Given the description of an element on the screen output the (x, y) to click on. 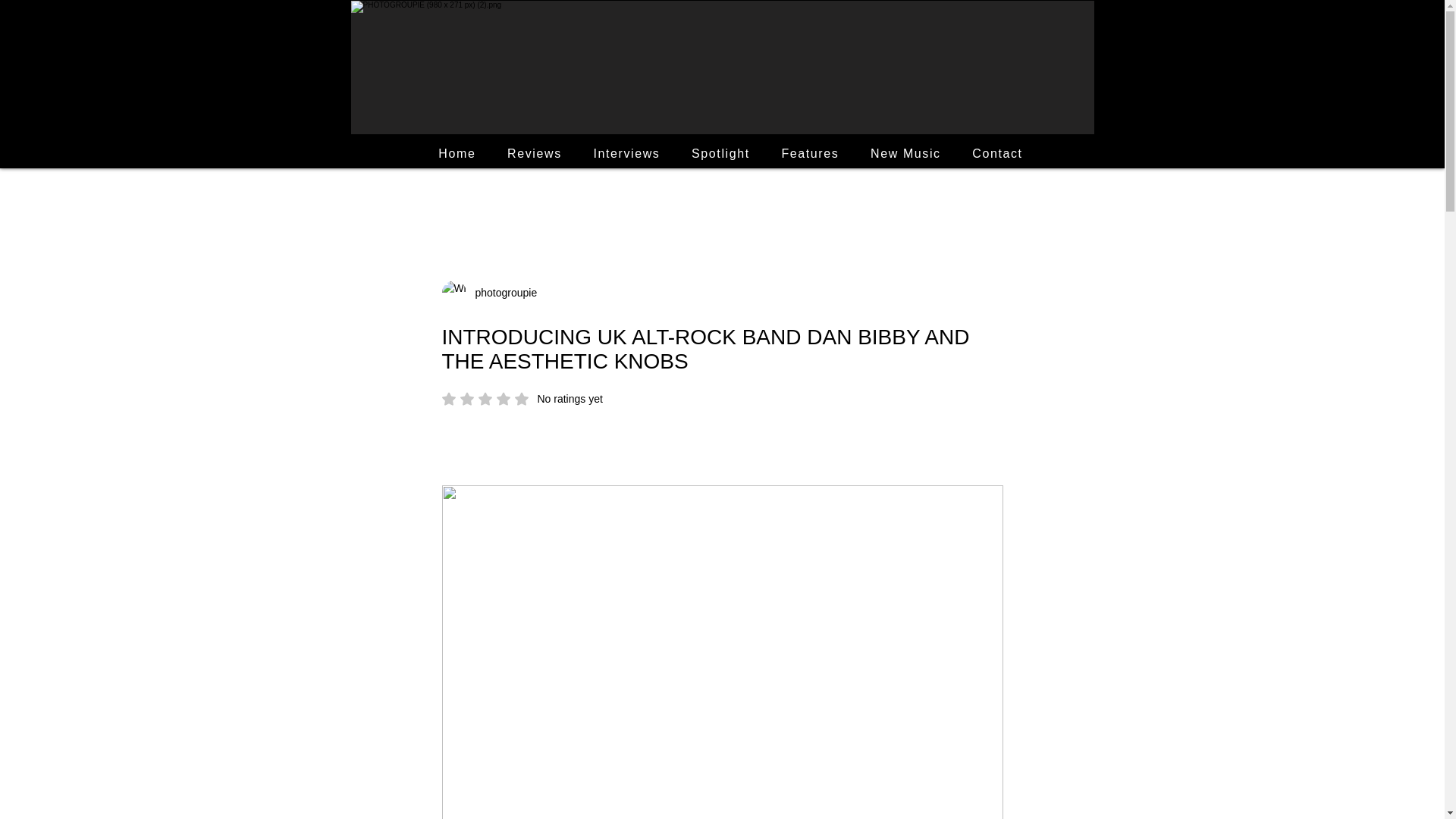
Home (457, 153)
Contact (521, 398)
Features (997, 153)
Interviews (809, 153)
New Music (626, 153)
photogroupie (905, 153)
Spotlight (501, 293)
